Given the description of an element on the screen output the (x, y) to click on. 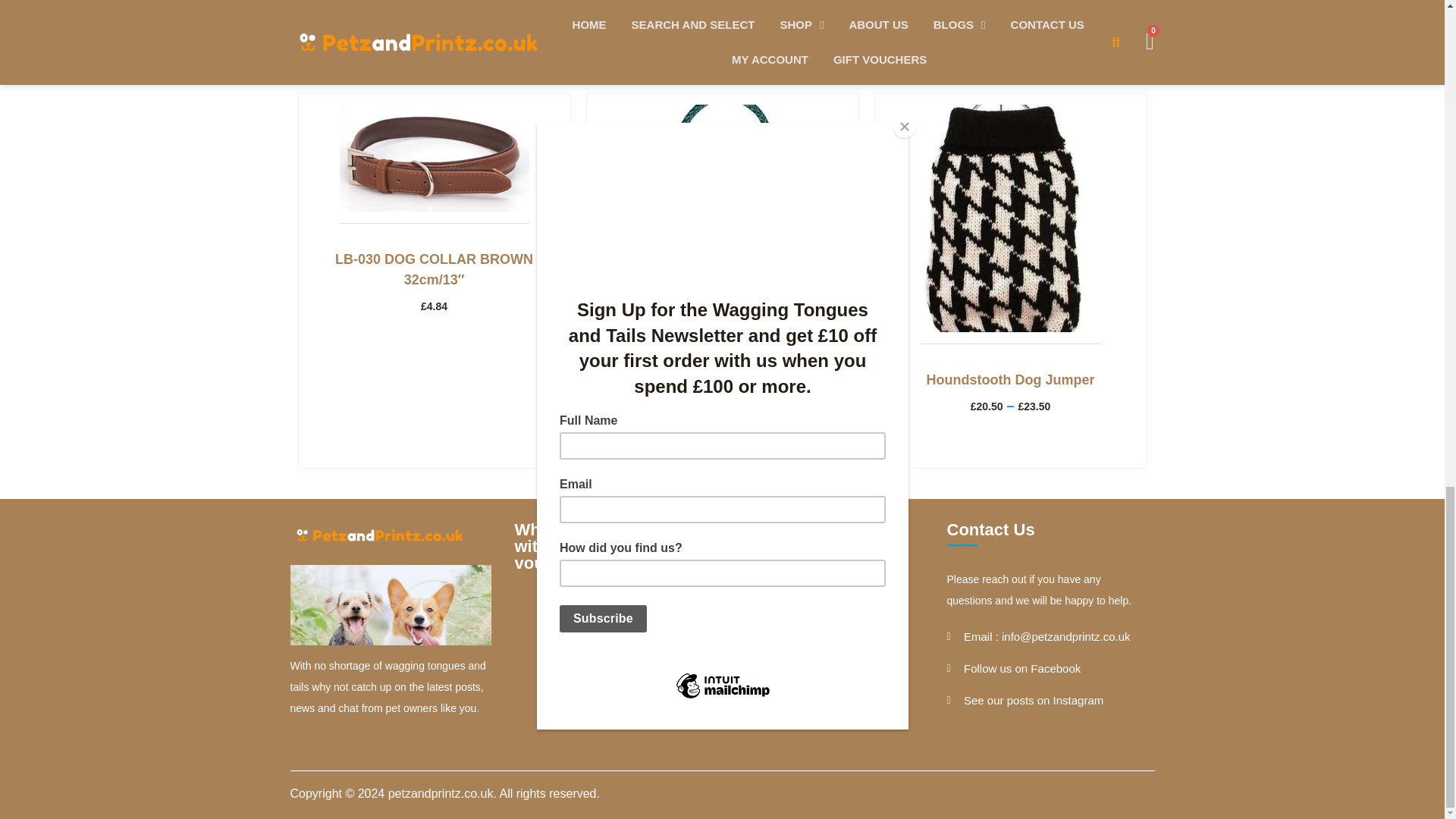
1 (609, 655)
